Given the description of an element on the screen output the (x, y) to click on. 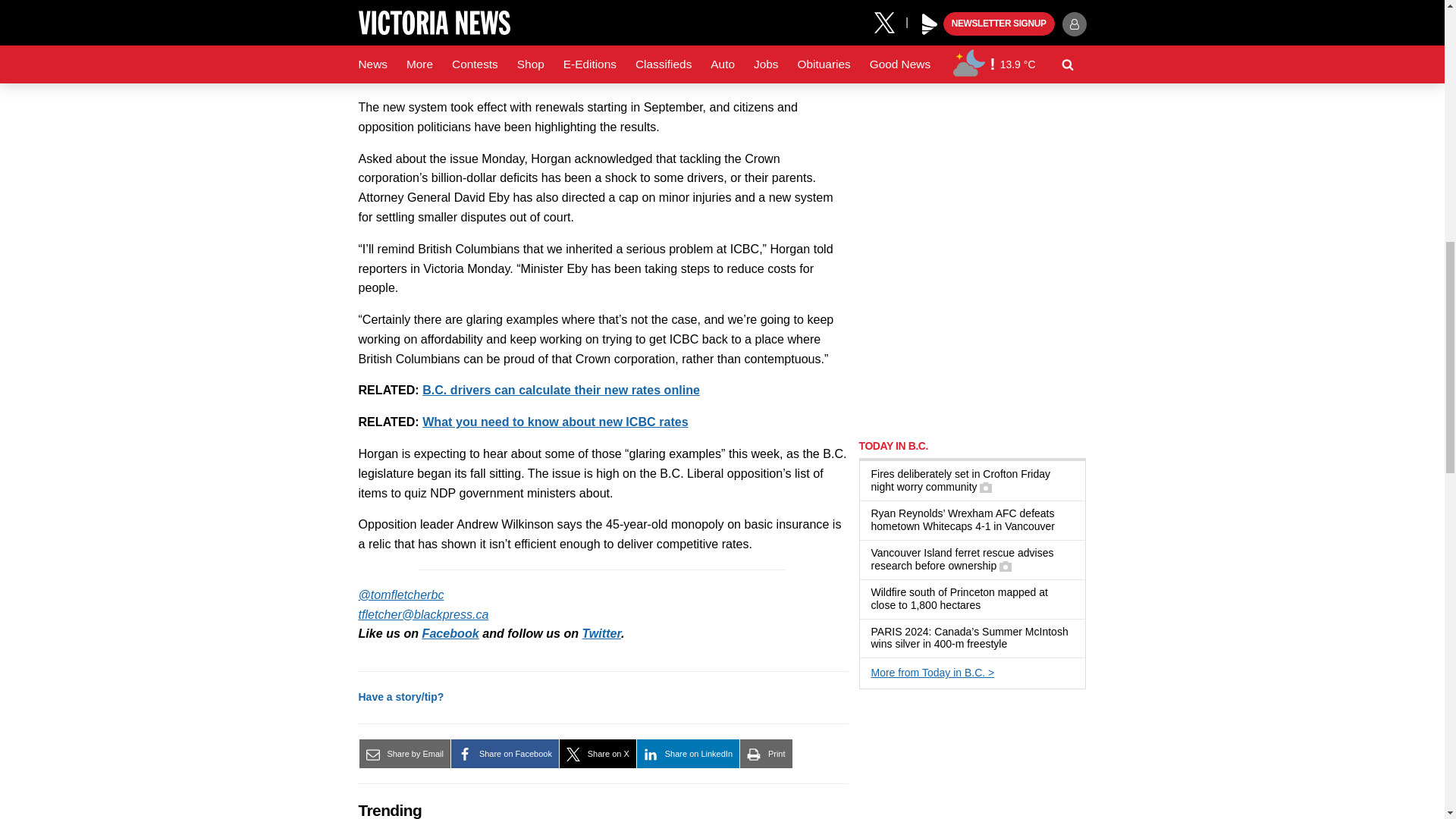
3rd party ad content (972, 124)
3rd party ad content (972, 761)
3rd party ad content (972, 329)
Has a gallery (1004, 566)
Has a gallery (985, 487)
